Given the description of an element on the screen output the (x, y) to click on. 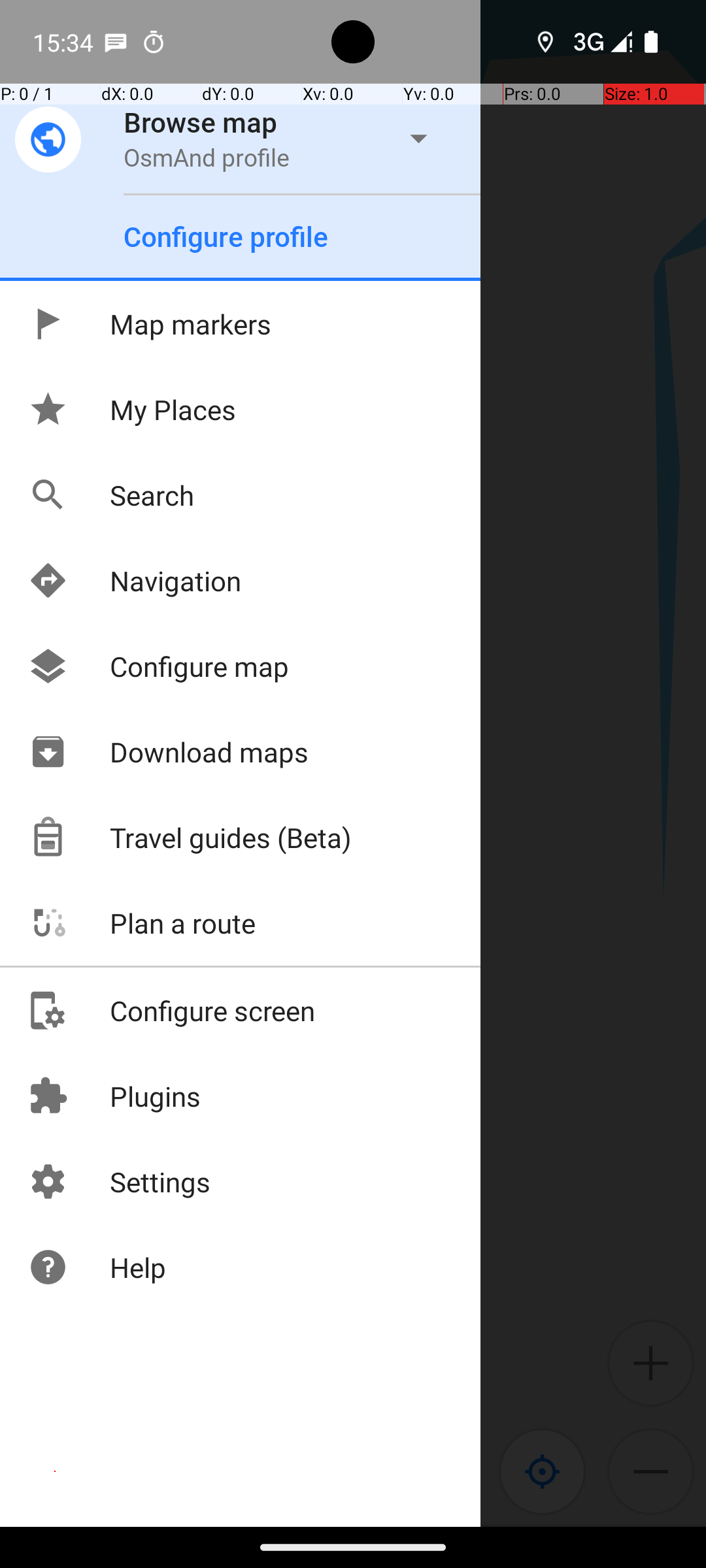
OsmAnd profile Element type: android.widget.TextView (206, 156)
Navigation Element type: android.widget.TextView (134, 580)
Download maps Element type: android.widget.TextView (168, 751)
Travel guides (Beta) Element type: android.widget.TextView (189, 837)
Plan a route Element type: android.widget.TextView (141, 922)
Configure screen Element type: android.widget.TextView (171, 1010)
Plugins Element type: android.widget.TextView (114, 1095)
SMS Messenger notification: +17247648679 Element type: android.widget.ImageView (115, 41)
